Given the description of an element on the screen output the (x, y) to click on. 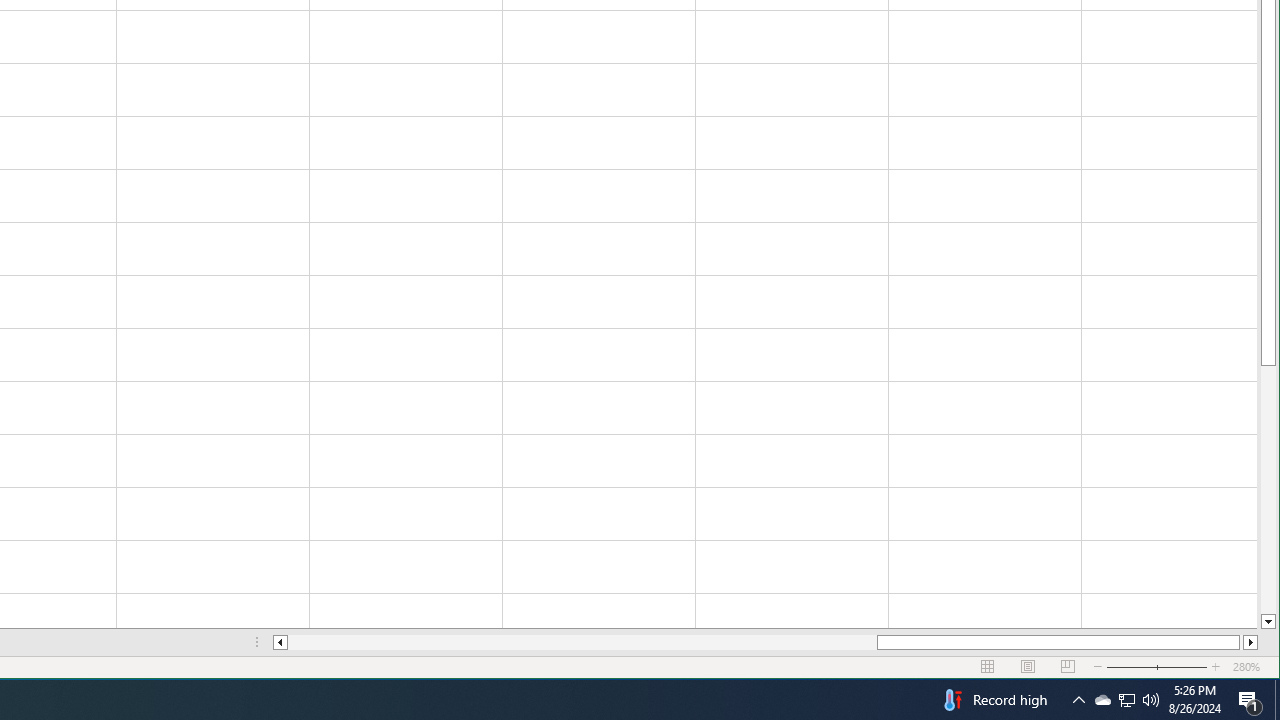
Record high (993, 699)
